Given the description of an element on the screen output the (x, y) to click on. 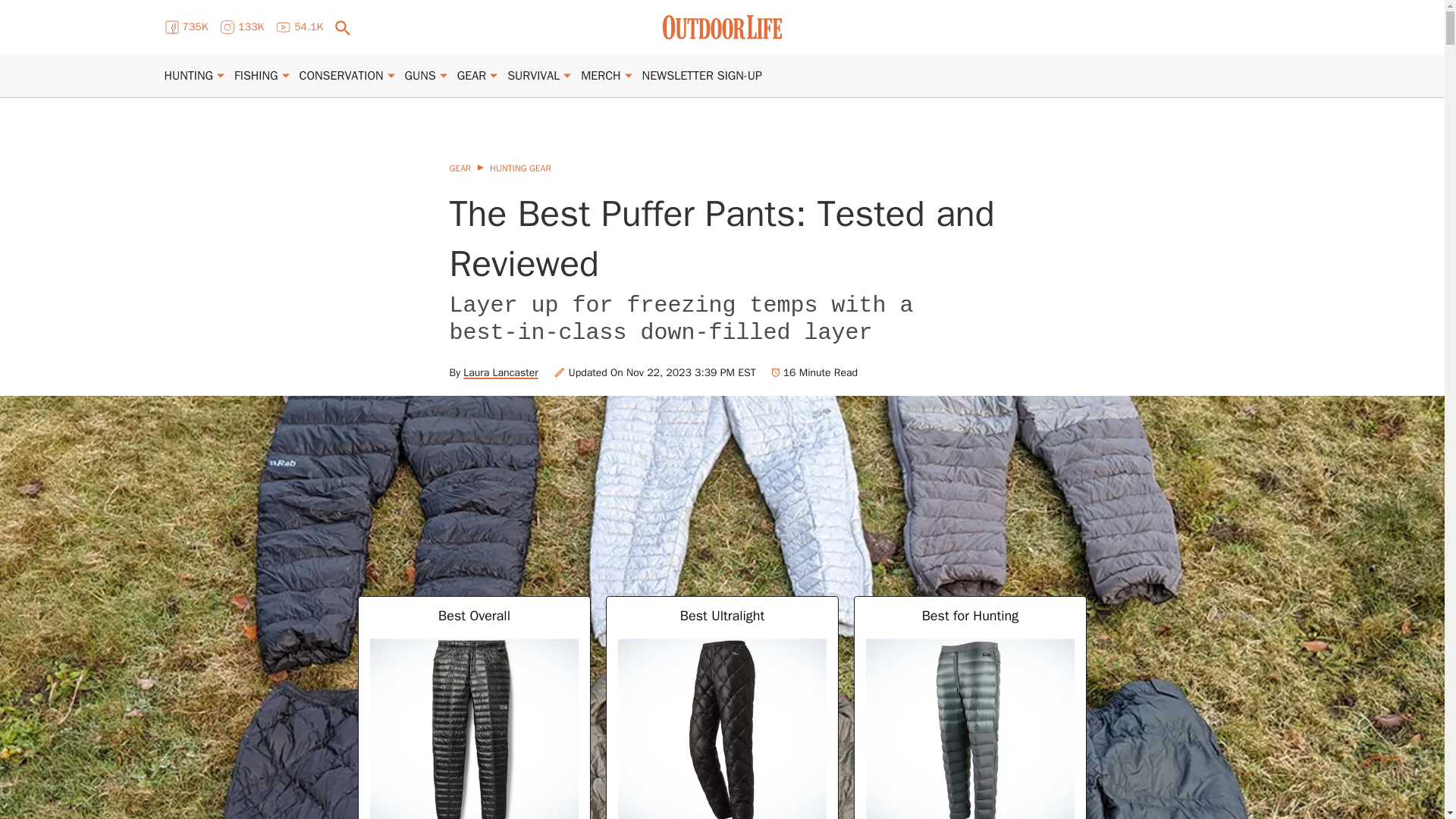
Conservation (341, 75)
Survival (532, 75)
Hunting (187, 75)
Merch (600, 75)
Gear (471, 75)
Newsletter Sign-up (701, 75)
Fishing (256, 75)
Guns (419, 75)
